Given the description of an element on the screen output the (x, y) to click on. 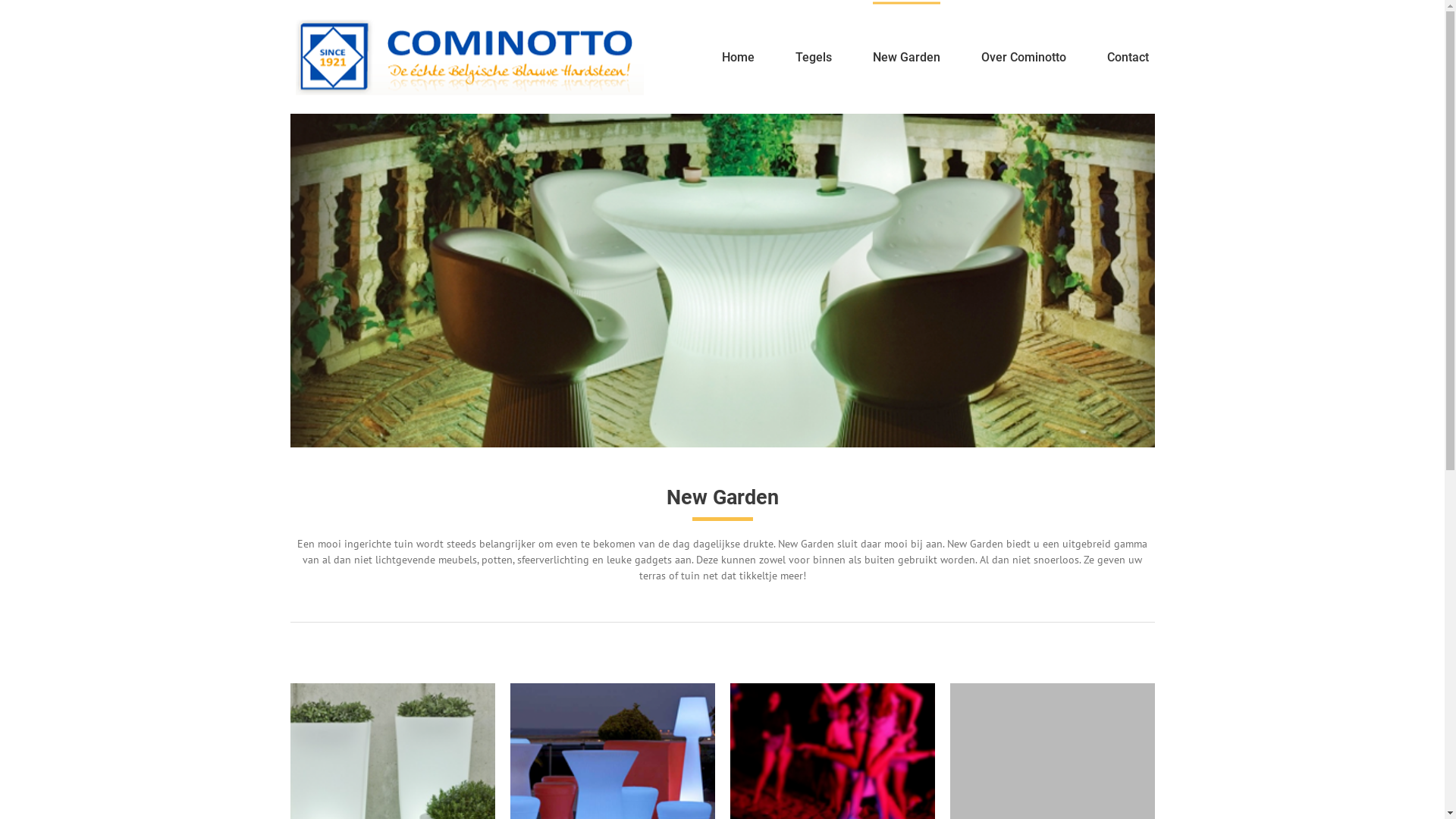
Over Cominotto Element type: text (1023, 56)
Contact Element type: text (1127, 56)
Tegels Element type: text (813, 56)
New Garden Element type: text (906, 56)
Home Element type: text (737, 56)
